Given the description of an element on the screen output the (x, y) to click on. 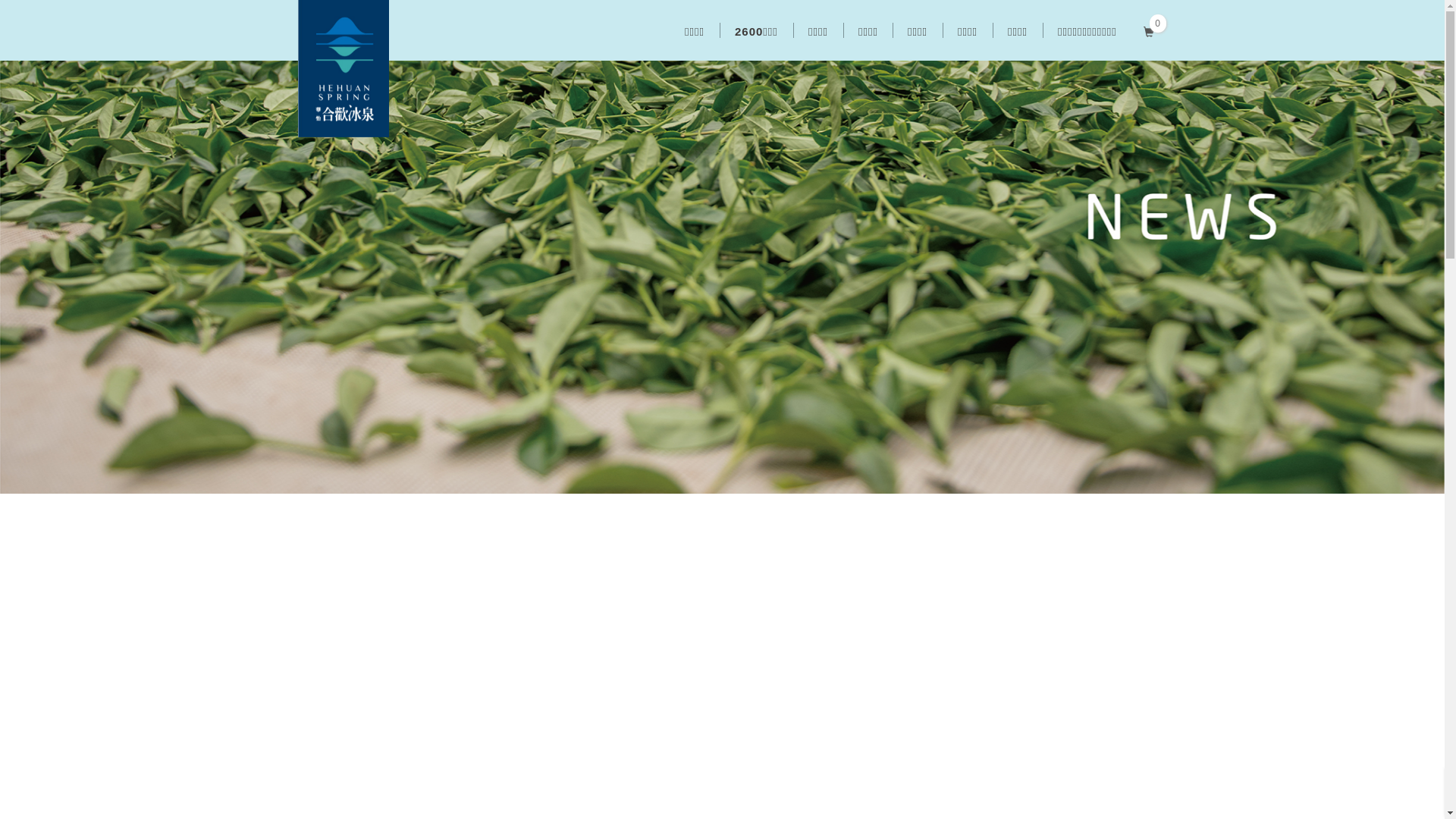
0 Element type: text (1148, 29)
